Given the description of an element on the screen output the (x, y) to click on. 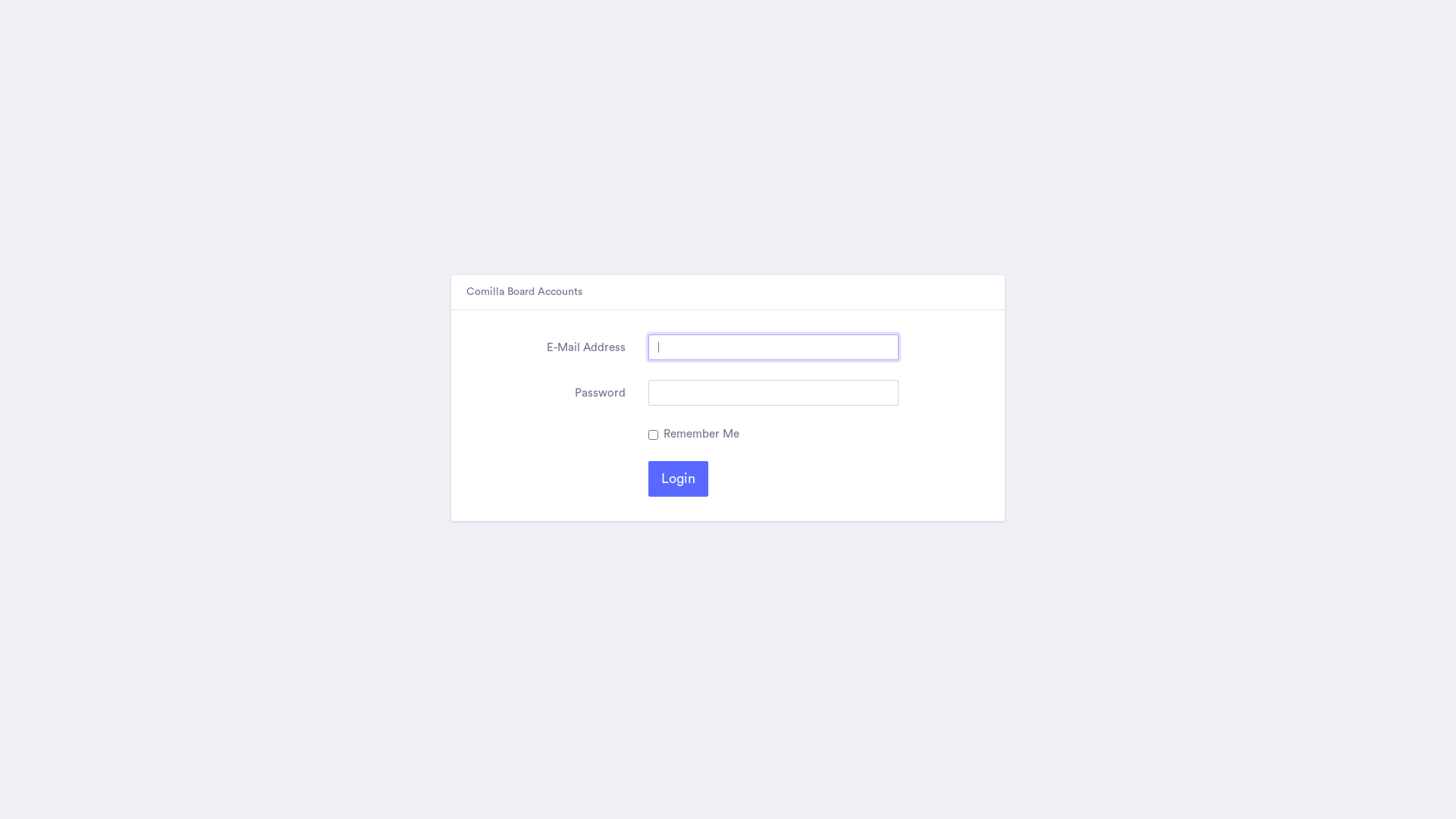
Login Element type: text (678, 478)
